Given the description of an element on the screen output the (x, y) to click on. 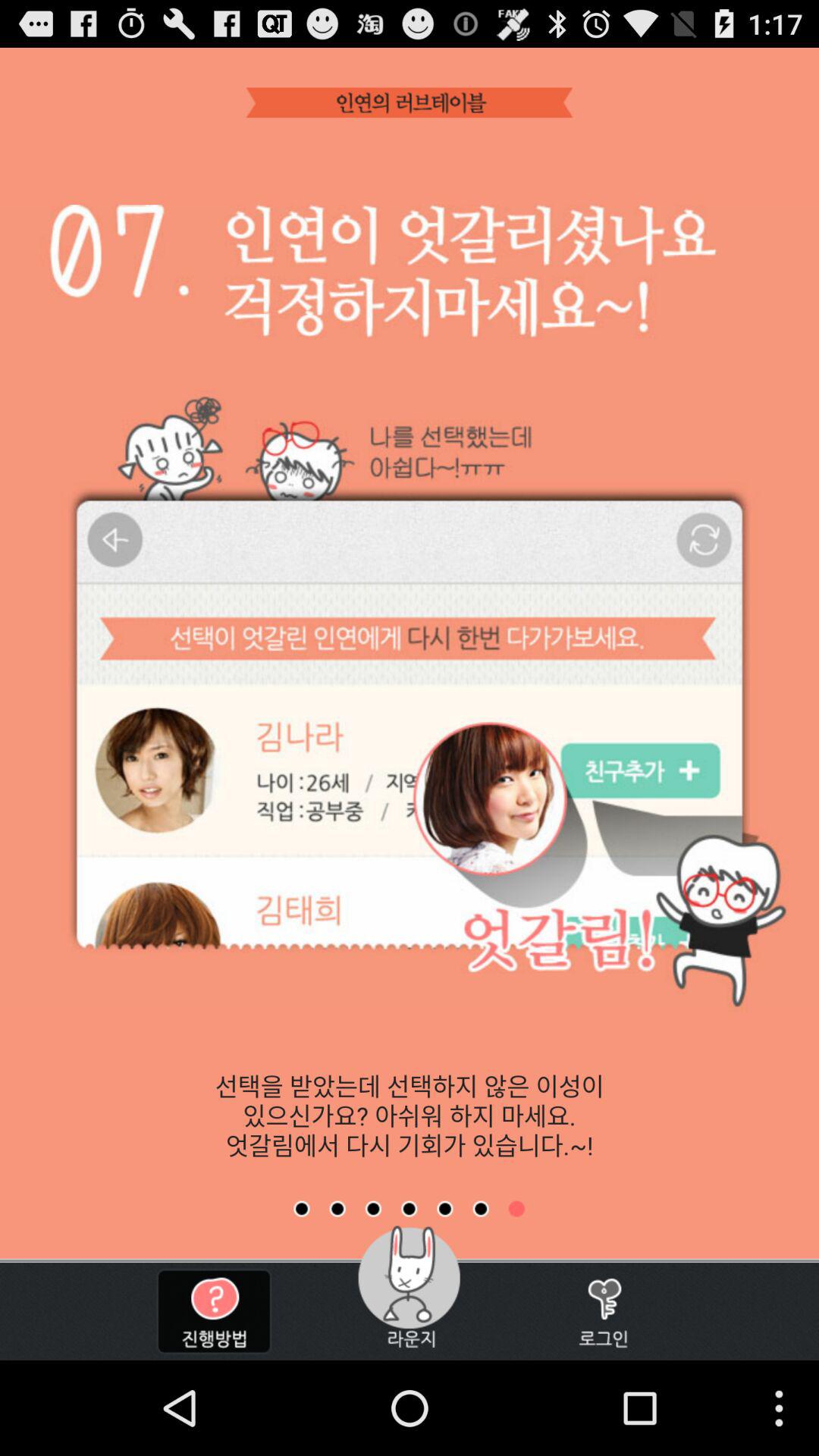
first image in series (301, 1208)
